Given the description of an element on the screen output the (x, y) to click on. 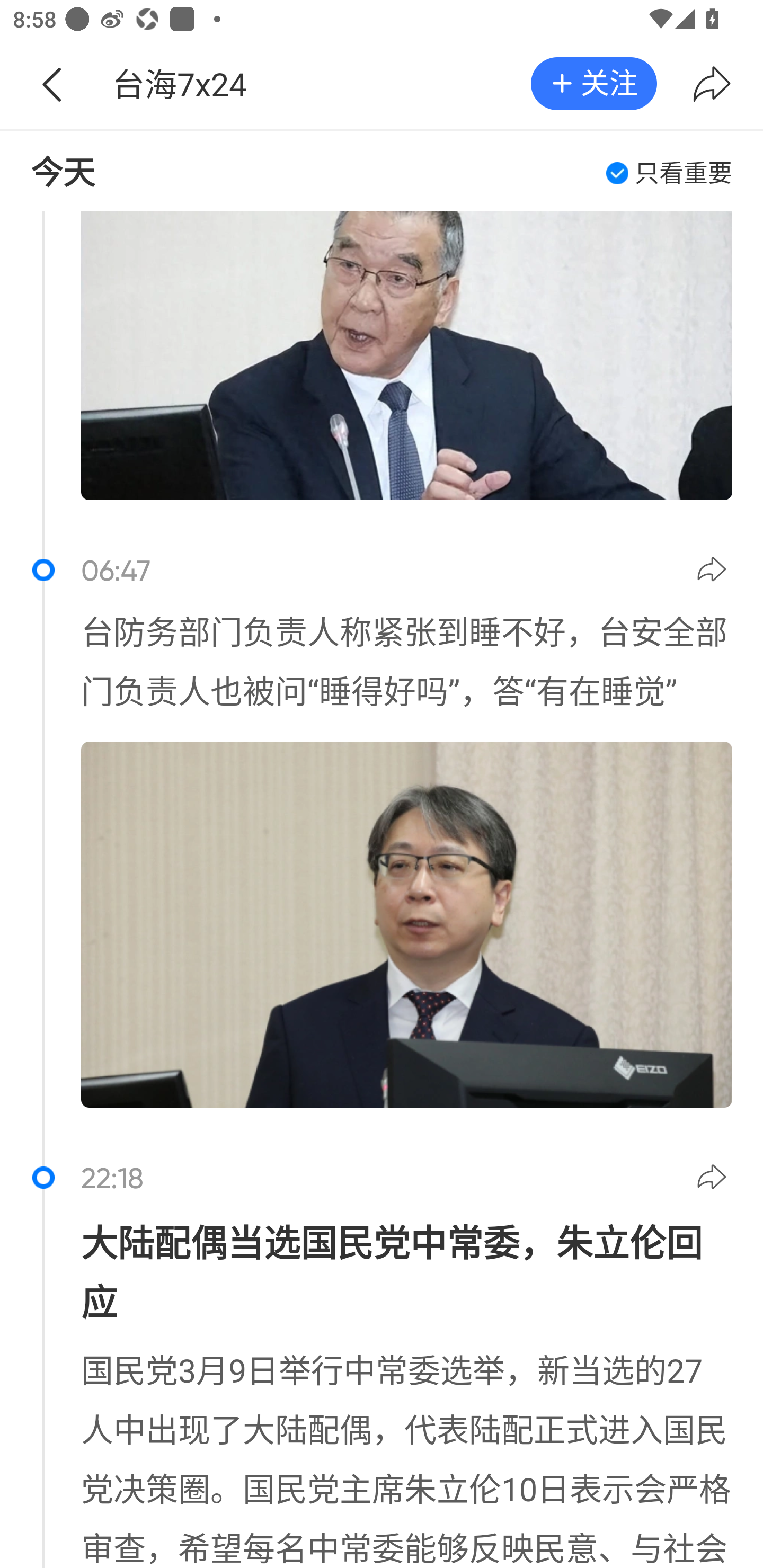
 关注 (593, 82)
 (50, 83)
 (711, 83)
只看重要 (668, 173)
 (713, 572)
 (713, 1179)
